Given the description of an element on the screen output the (x, y) to click on. 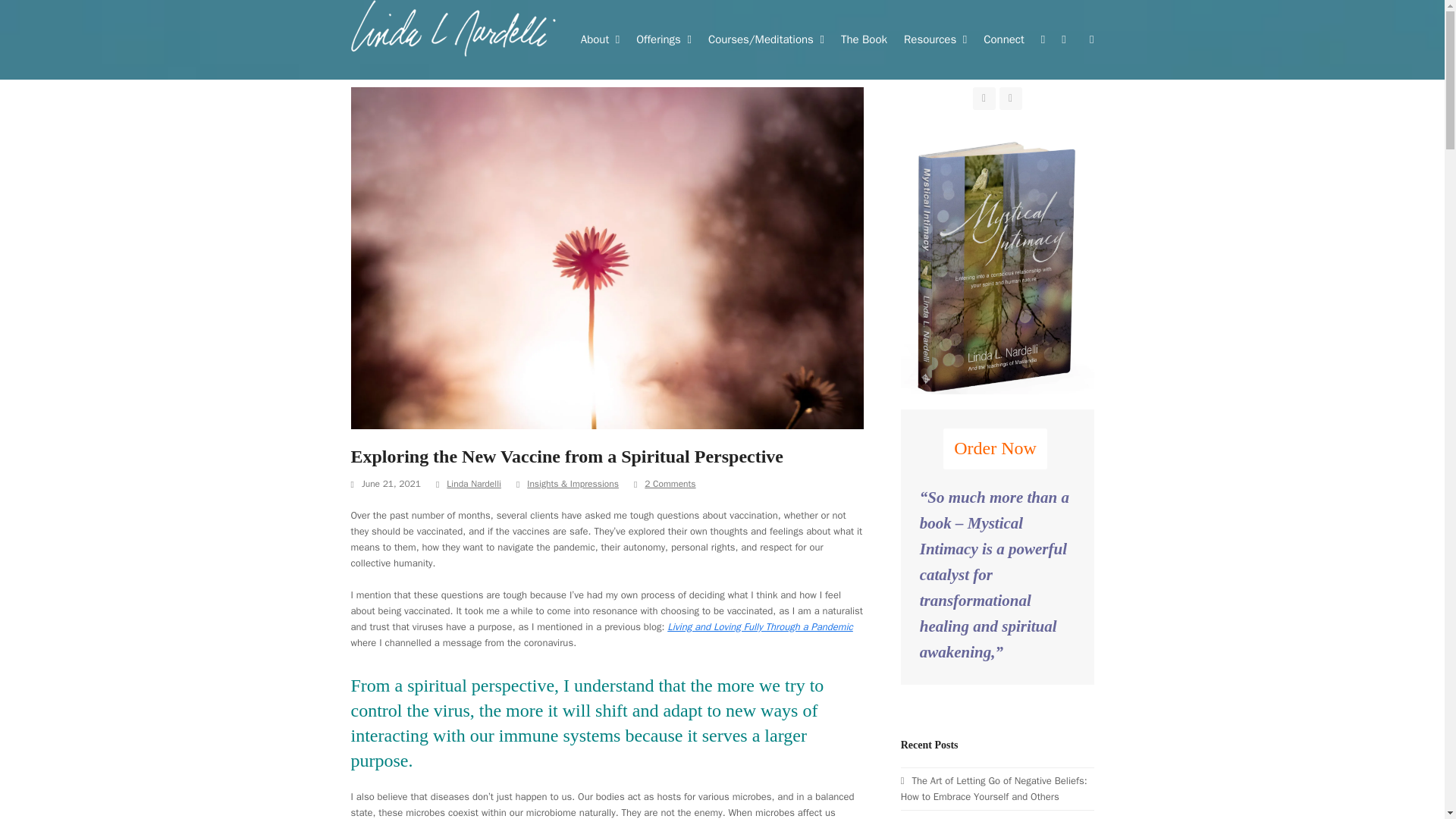
The Book (863, 39)
About (599, 39)
2 Comments (670, 484)
Living and Loving Fully Through a Pandemic (759, 626)
2 Comments (664, 484)
Resources (935, 39)
Connect (1003, 39)
YouTube (1010, 97)
Offerings (663, 39)
Linda Nardelli (473, 483)
Posts by Linda Nardelli (473, 483)
Facebook (983, 97)
